Given the description of an element on the screen output the (x, y) to click on. 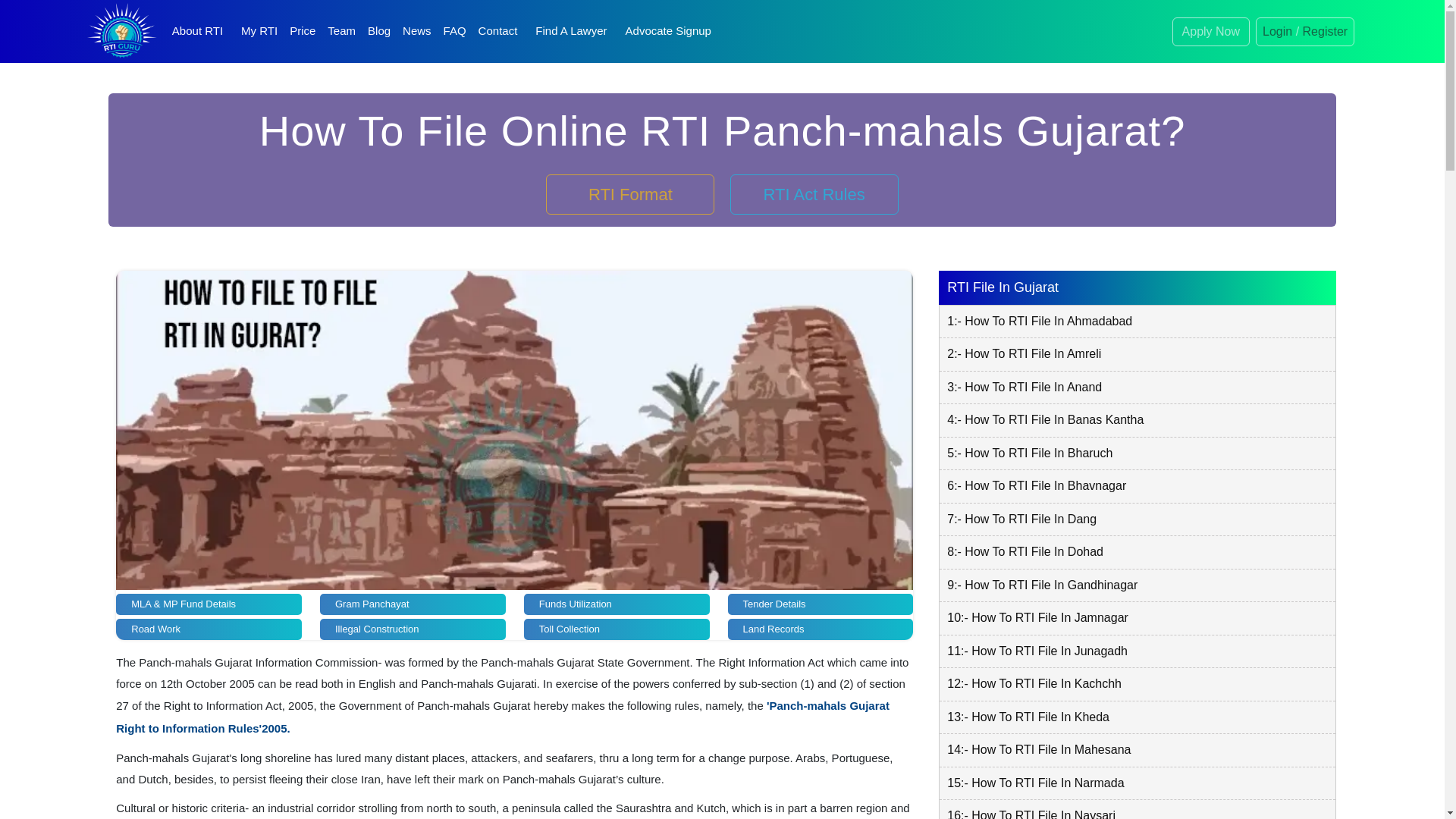
Gram Panchayat (412, 604)
Blog (378, 30)
My RTI (258, 30)
News (417, 30)
Apply Now (1210, 30)
Land Records (821, 629)
How To File Online RTI Panch-mahals Gujarat? (721, 147)
Advocate Signup (668, 30)
Funds Utilization (617, 604)
Tender Details (821, 604)
Login (1277, 30)
FAQ (454, 30)
Register (1325, 30)
Find A Lawyer (570, 30)
Road Work (208, 629)
